Given the description of an element on the screen output the (x, y) to click on. 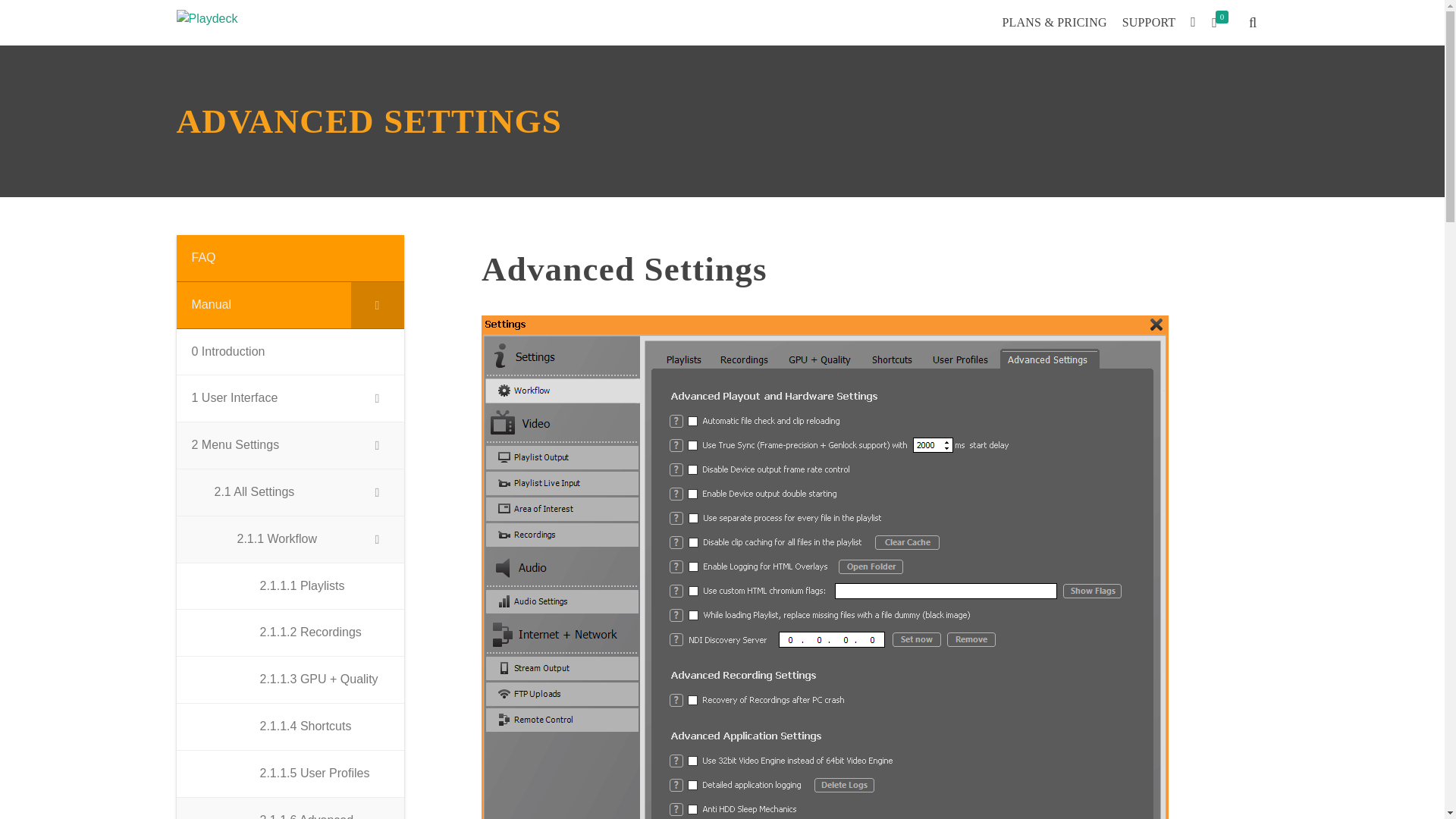
2.1.1.6 Advanced Settings (289, 808)
1 User Interface (289, 398)
2 Menu Settings (289, 445)
Advanced Settings (874, 269)
2.1.1.4 Shortcuts (289, 727)
2.1.1.5 User Profiles (289, 774)
FAQ (289, 258)
0 Introduction (289, 352)
Manual (289, 305)
2.1.1.2 Recordings (289, 632)
